Given the description of an element on the screen output the (x, y) to click on. 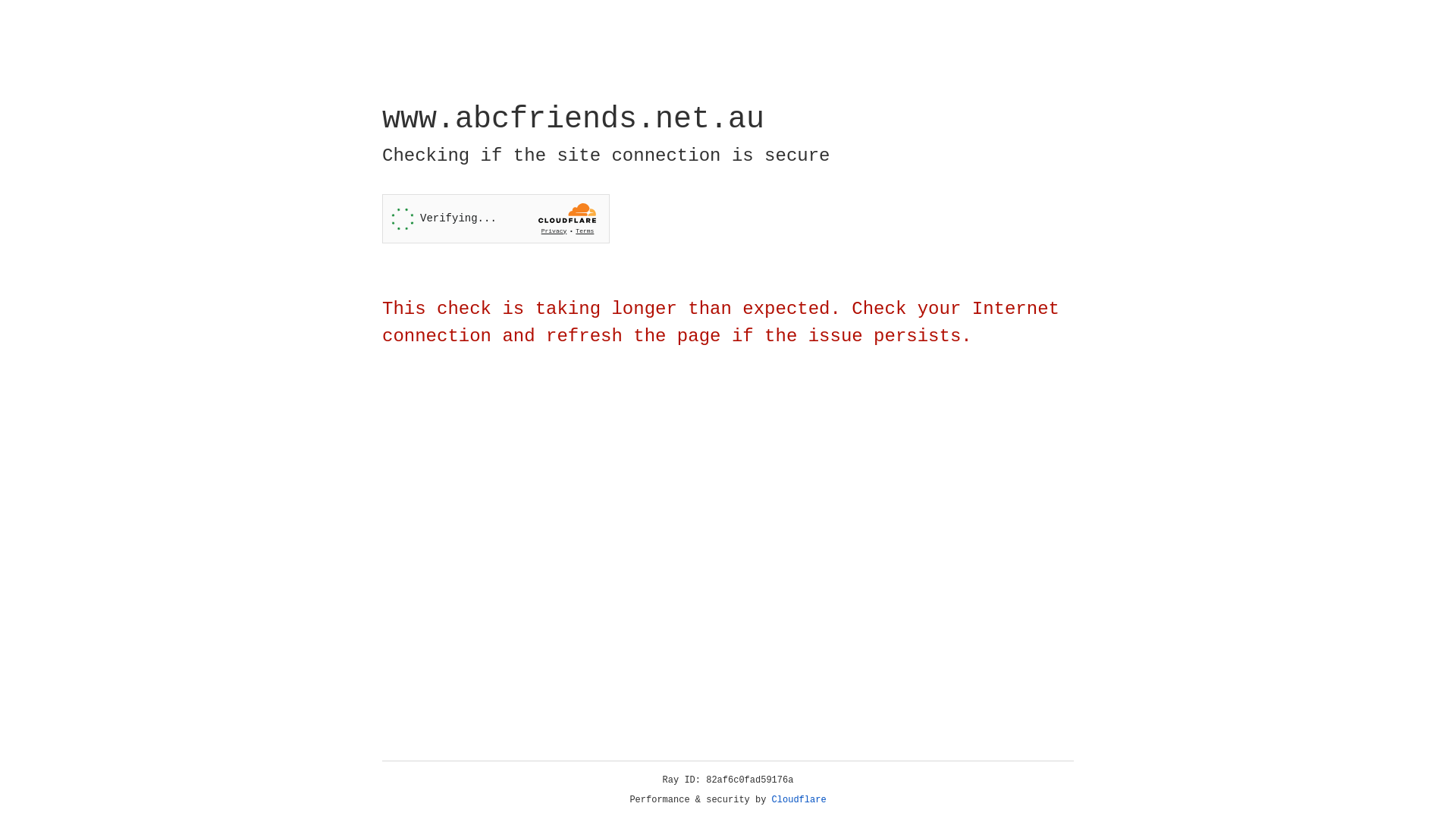
Cloudflare Element type: text (798, 799)
Widget containing a Cloudflare security challenge Element type: hover (495, 218)
